Given the description of an element on the screen output the (x, y) to click on. 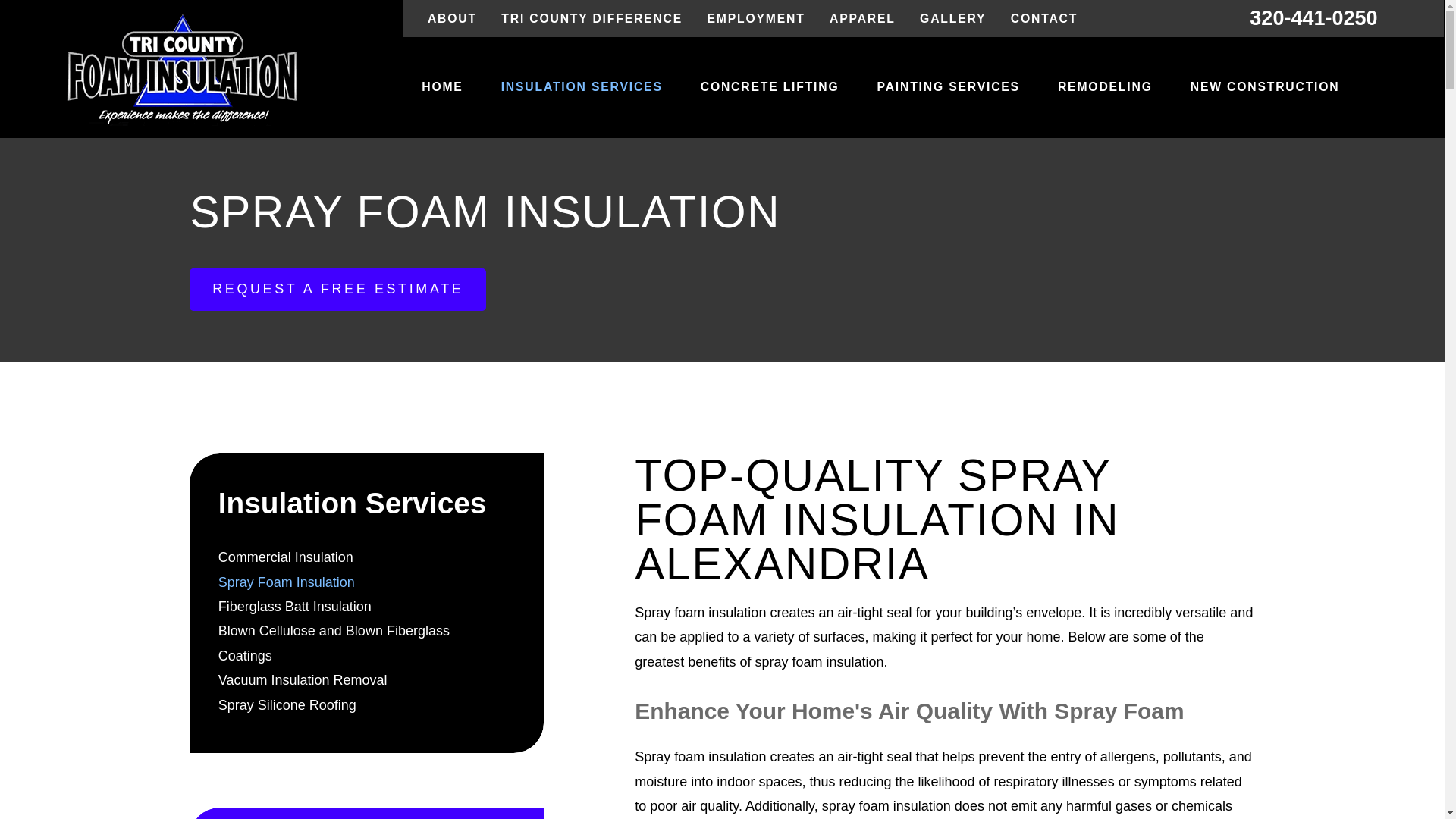
Home (181, 69)
CONTACT (1043, 18)
CONCRETE LIFTING (770, 87)
PAINTING SERVICES (947, 87)
TRI COUNTY DIFFERENCE (591, 18)
EMPLOYMENT (755, 18)
NEW CONSTRUCTION (1265, 87)
APPAREL (862, 18)
GALLERY (952, 18)
ABOUT (452, 18)
